Given the description of an element on the screen output the (x, y) to click on. 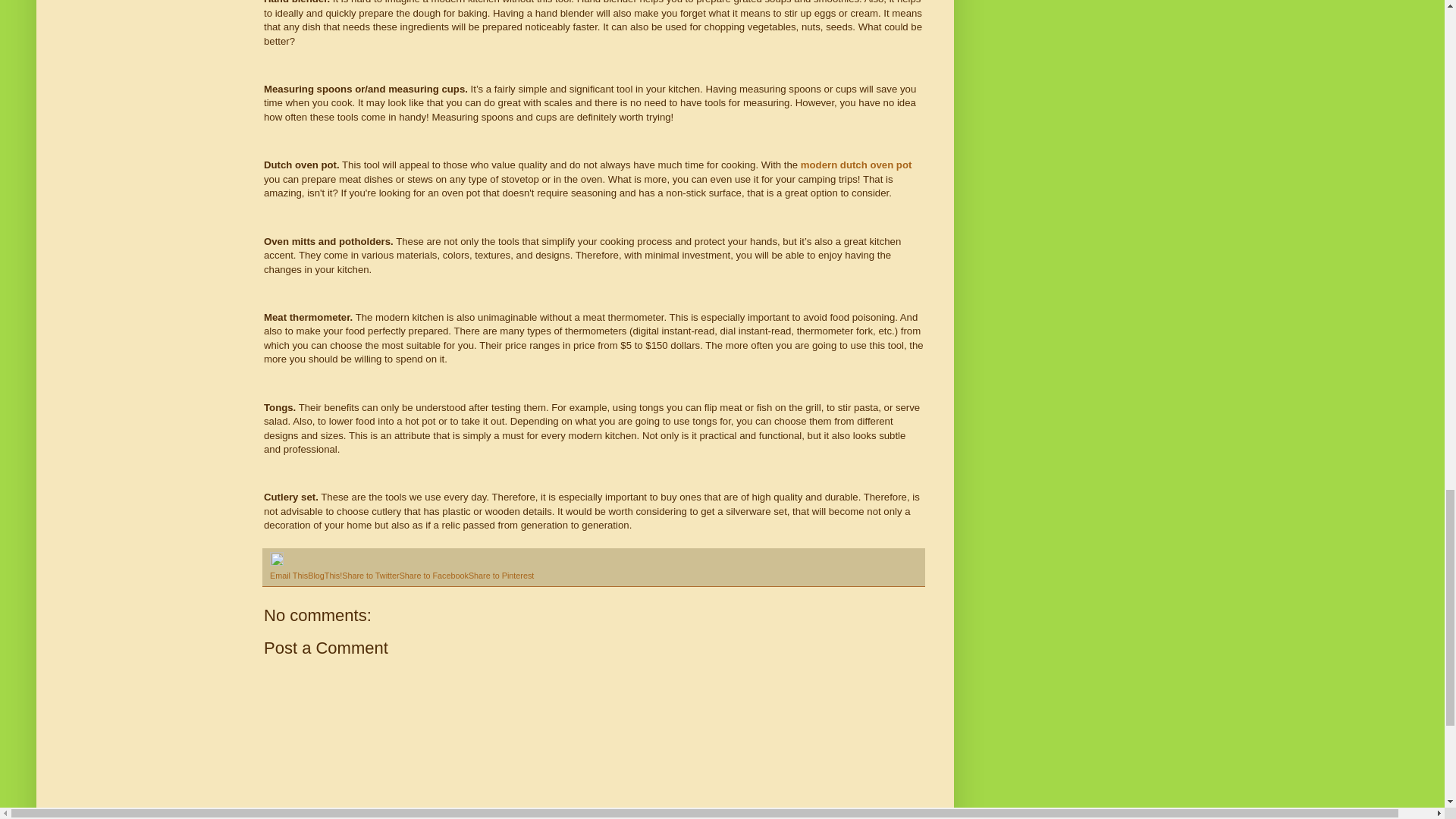
BlogThis! (324, 574)
BlogThis! (324, 574)
Edit Post (276, 562)
Email This (288, 574)
Share to Twitter (370, 574)
Share to Facebook (433, 574)
Share to Pinterest (501, 574)
Share to Pinterest (501, 574)
Share to Twitter (370, 574)
Share to Facebook (433, 574)
